Given the description of an element on the screen output the (x, y) to click on. 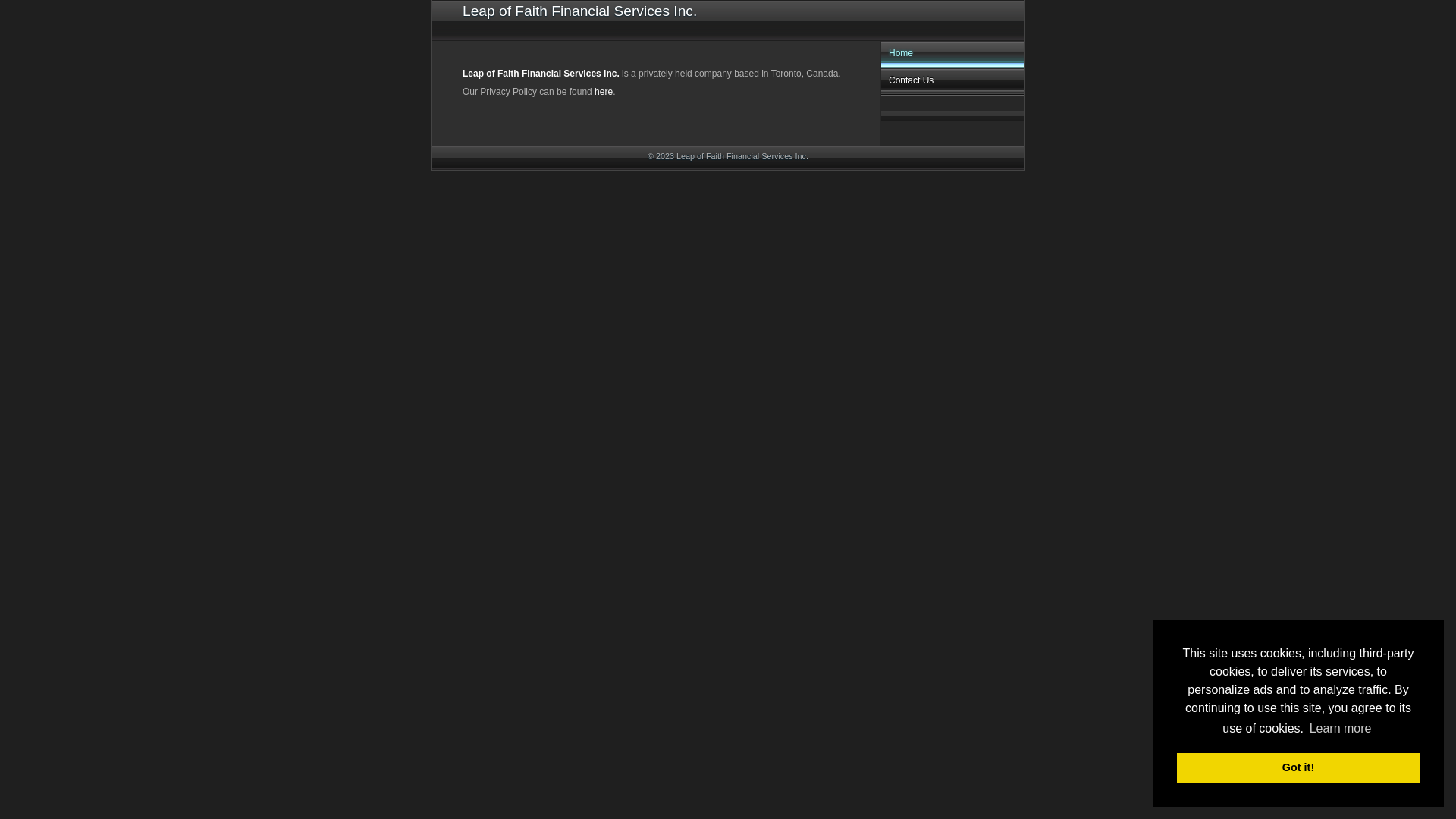
here Element type: text (603, 91)
Got it! Element type: text (1297, 767)
Leap of Faith Financial Services Inc. Element type: text (540, 73)
Home Element type: text (952, 54)
Contact Us Element type: text (952, 81)
Learn more Element type: text (1339, 728)
